Given the description of an element on the screen output the (x, y) to click on. 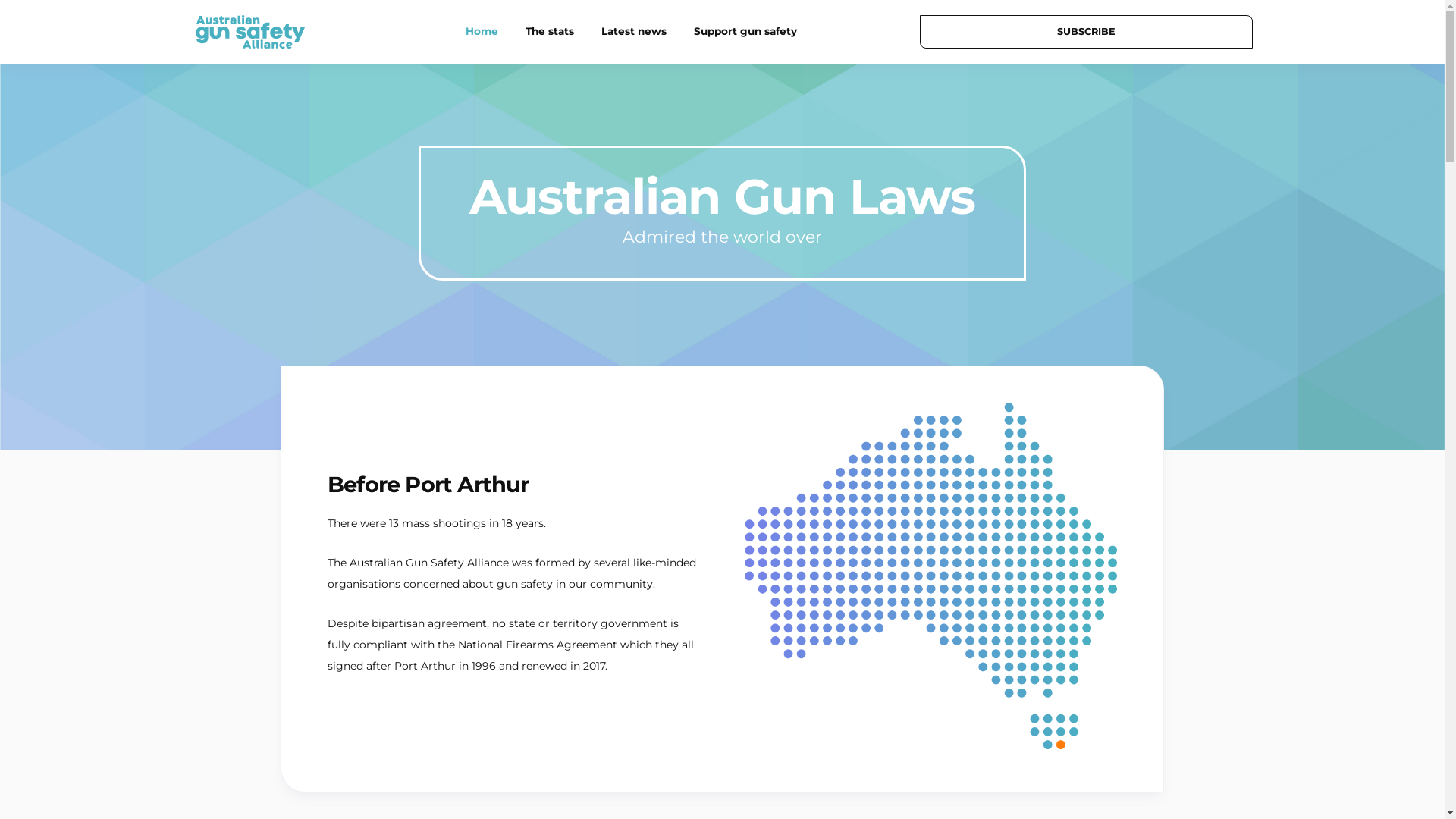
Latest news Element type: text (633, 31)
SUBSCRIBE Element type: text (1085, 31)
Home Element type: text (481, 31)
The stats Element type: text (549, 31)
Support gun safety Element type: text (745, 31)
